Given the description of an element on the screen output the (x, y) to click on. 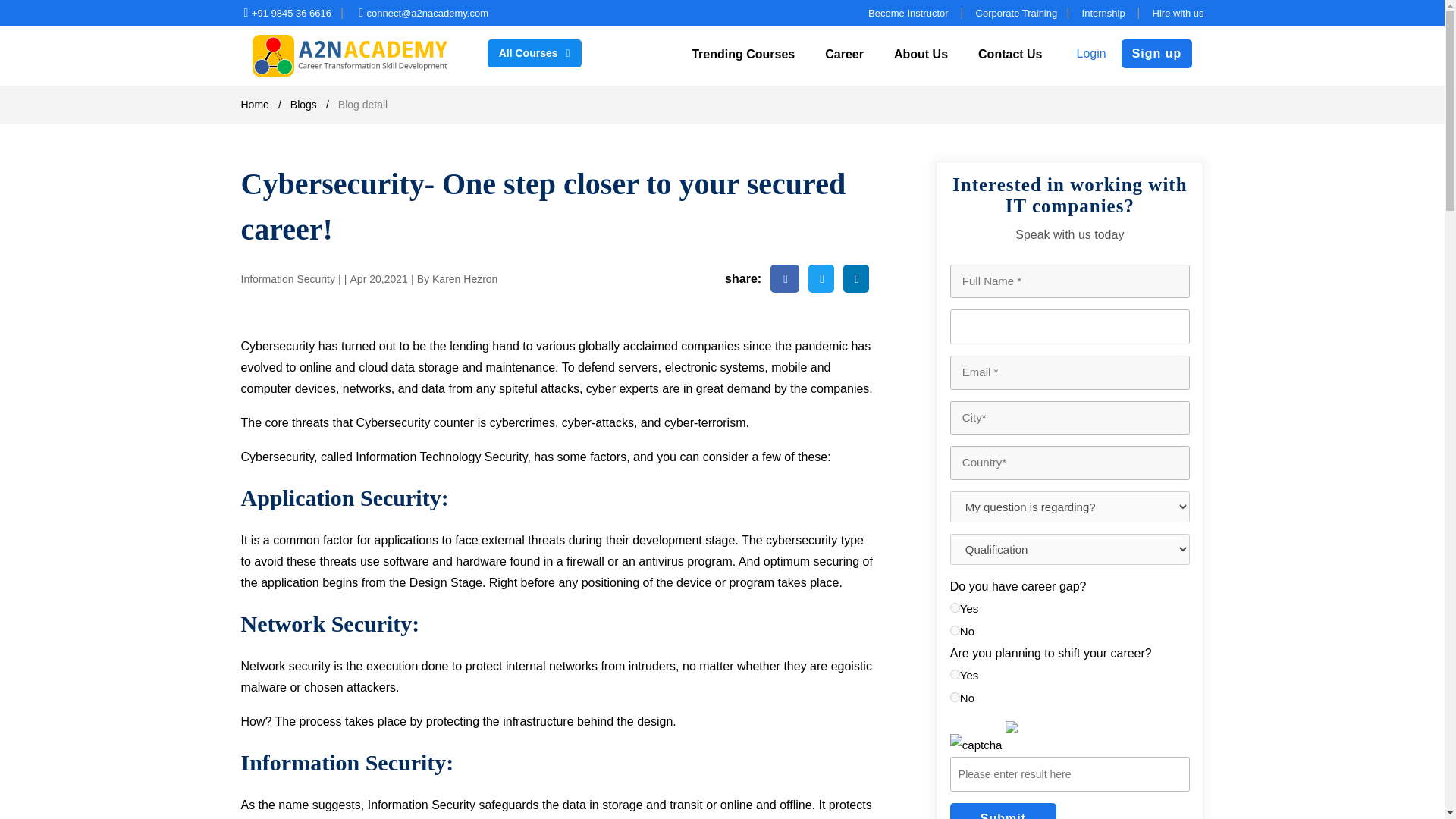
Internship (1104, 12)
2 (954, 696)
Corporate Training (1016, 12)
2 (954, 630)
All Courses (533, 53)
1 (954, 674)
Hire with us (1178, 12)
1 (954, 607)
Submit (1003, 811)
Become Instructor (908, 12)
